Given the description of an element on the screen output the (x, y) to click on. 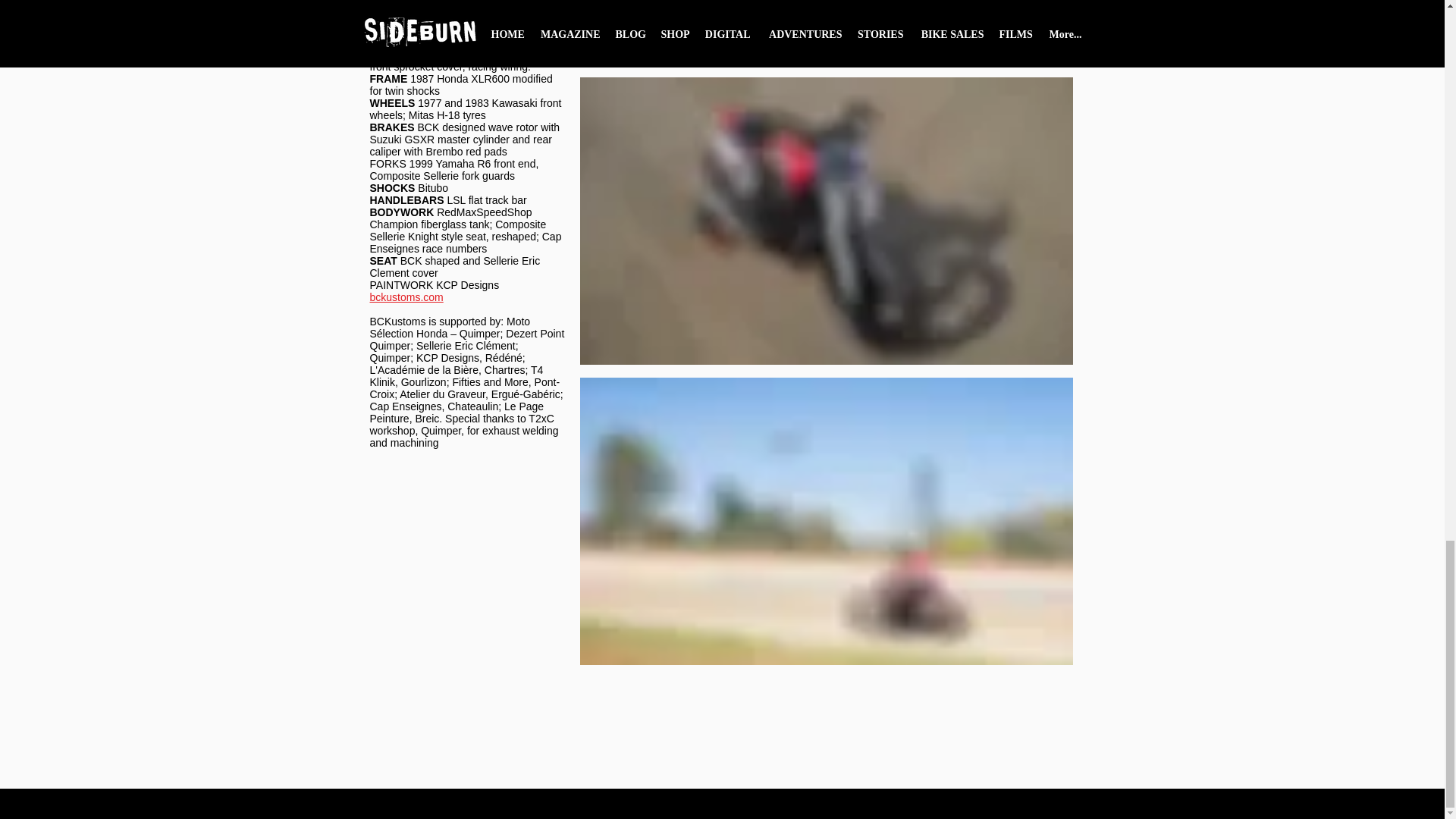
bckustoms.com (406, 297)
